Given the description of an element on the screen output the (x, y) to click on. 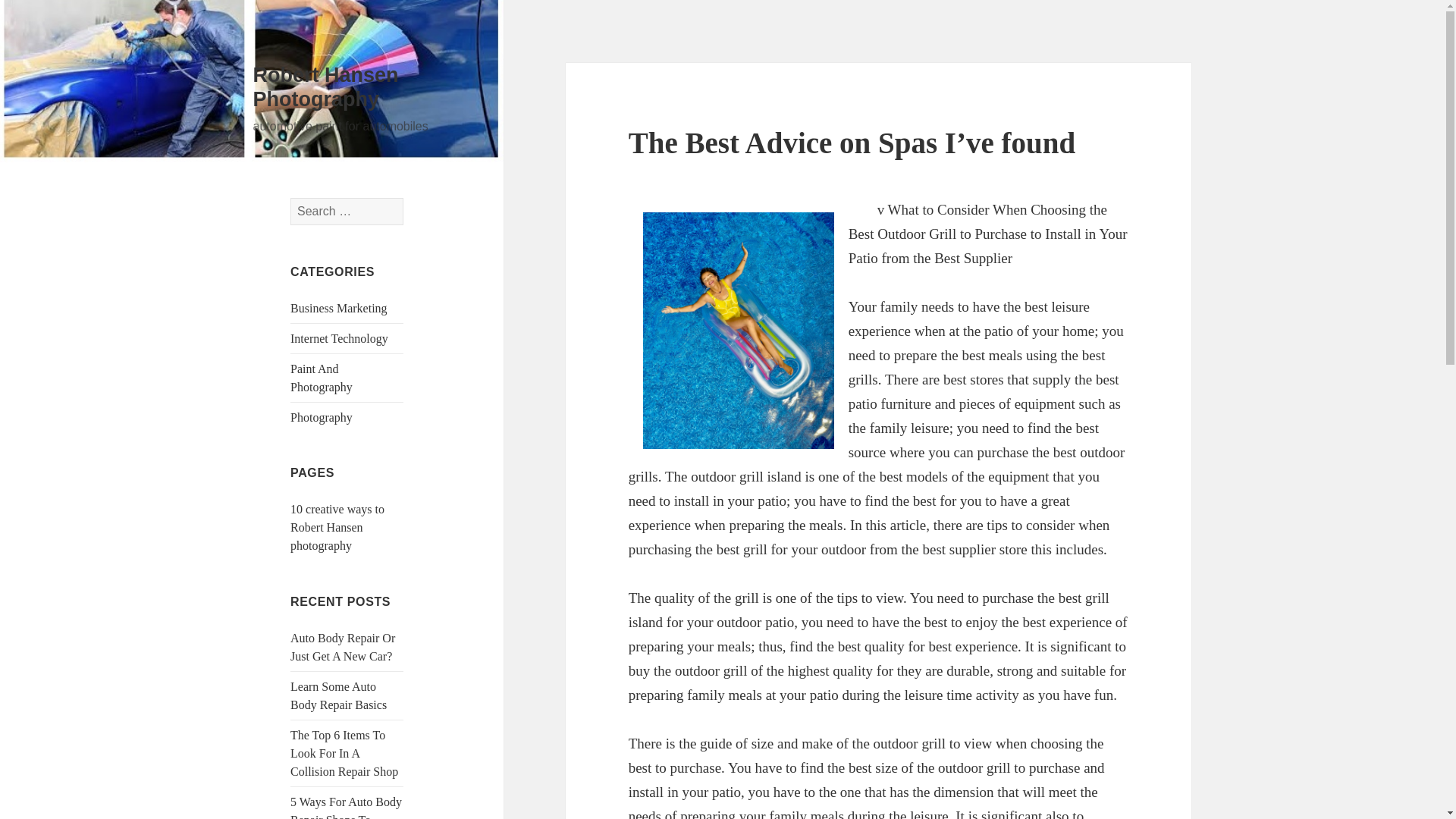
Learn Some Auto Body Repair Basics (338, 695)
Photography (320, 417)
Paint And Photography (320, 377)
Internet Technology (338, 338)
The Top 6 Items To Look For In A Collision Repair Shop (343, 753)
Robert Hansen Photography (325, 86)
10 creative ways to Robert Hansen photography (336, 527)
Business Marketing (338, 308)
Auto Body Repair Or Just Get A New Car? (341, 646)
